Given the description of an element on the screen output the (x, y) to click on. 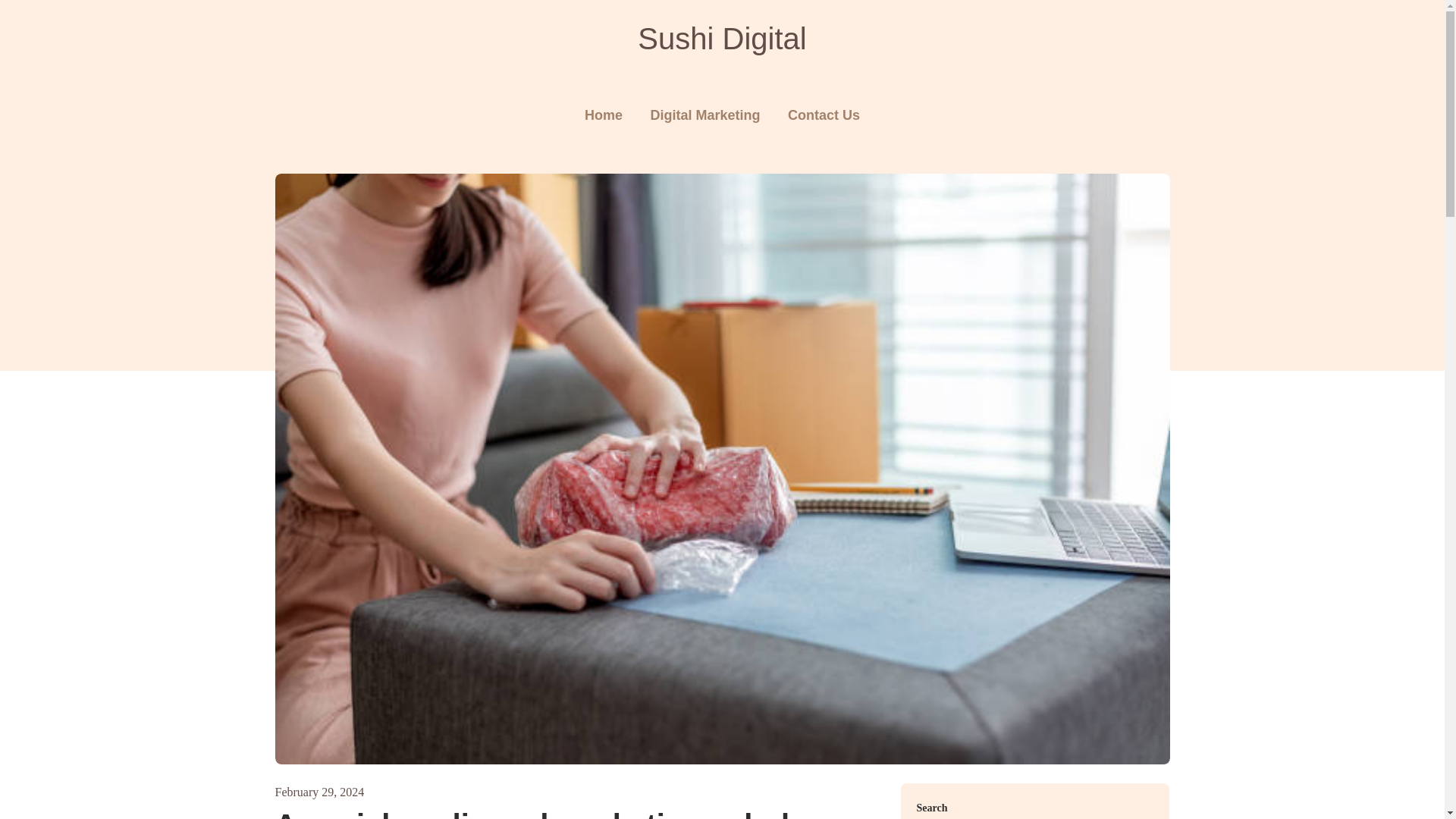
Digital Marketing (704, 115)
February 29, 2024 (319, 791)
Home (603, 115)
Contact Us (824, 115)
Sushi Digital (722, 38)
